Given the description of an element on the screen output the (x, y) to click on. 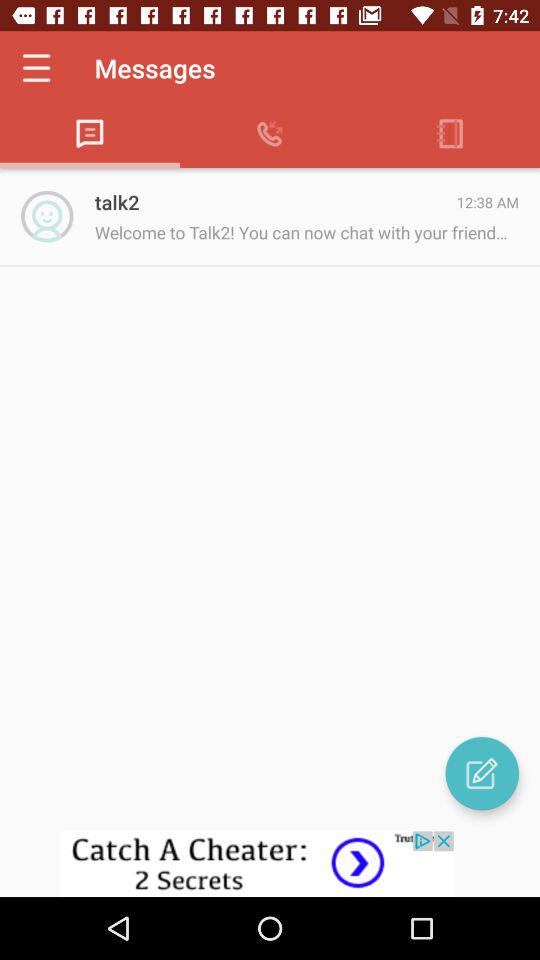
open advertisement (270, 864)
